Given the description of an element on the screen output the (x, y) to click on. 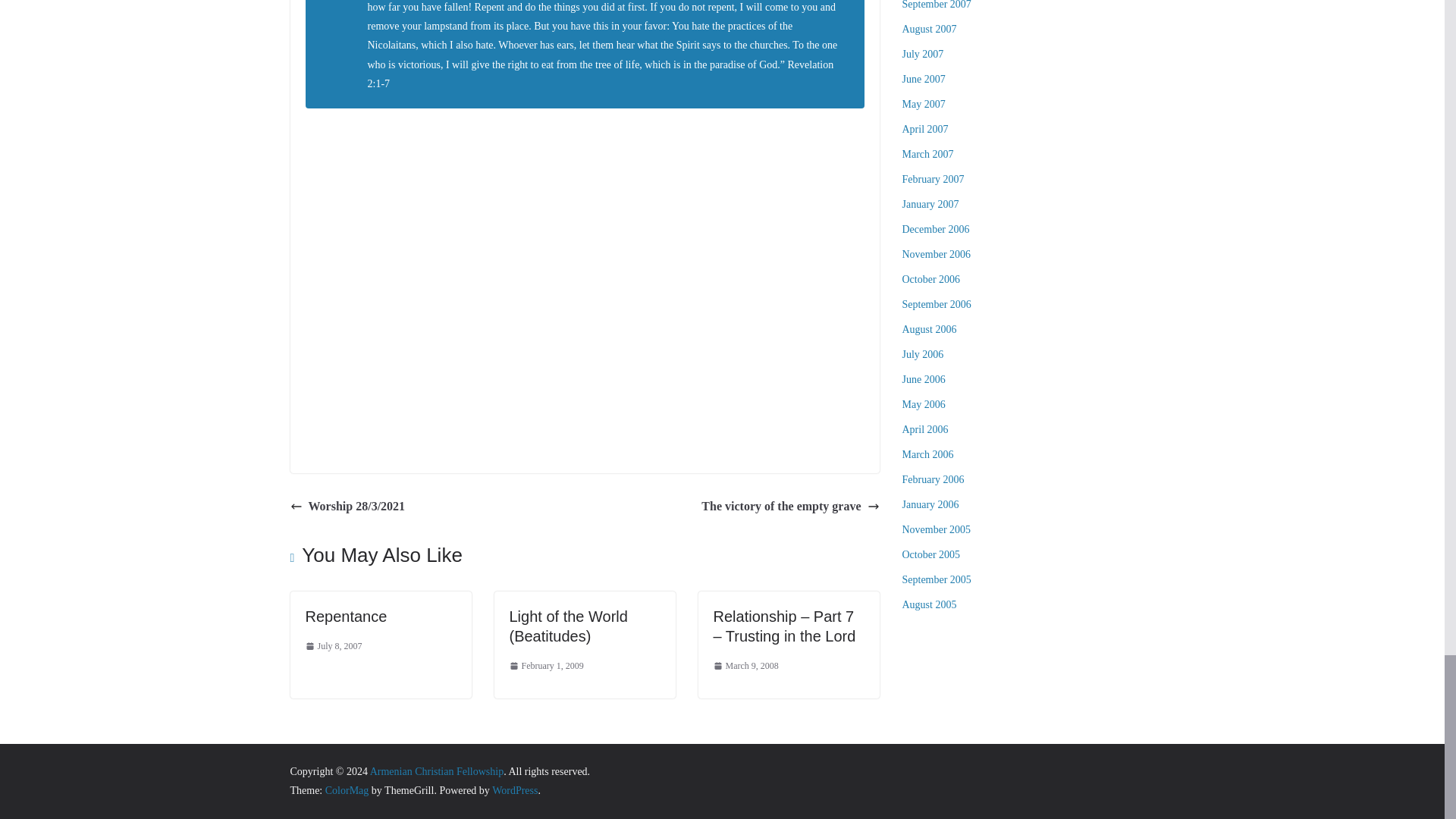
Repentance (345, 616)
February 1, 2009 (546, 666)
July 8, 2007 (332, 646)
The victory of the empty grave (790, 506)
Armenian Christian Fellowship (436, 771)
Repentance (345, 616)
WordPress (514, 790)
12:00 am (332, 646)
ColorMag (346, 790)
1:00 am (745, 666)
March 9, 2008 (745, 666)
1:00 am (546, 666)
